Given the description of an element on the screen output the (x, y) to click on. 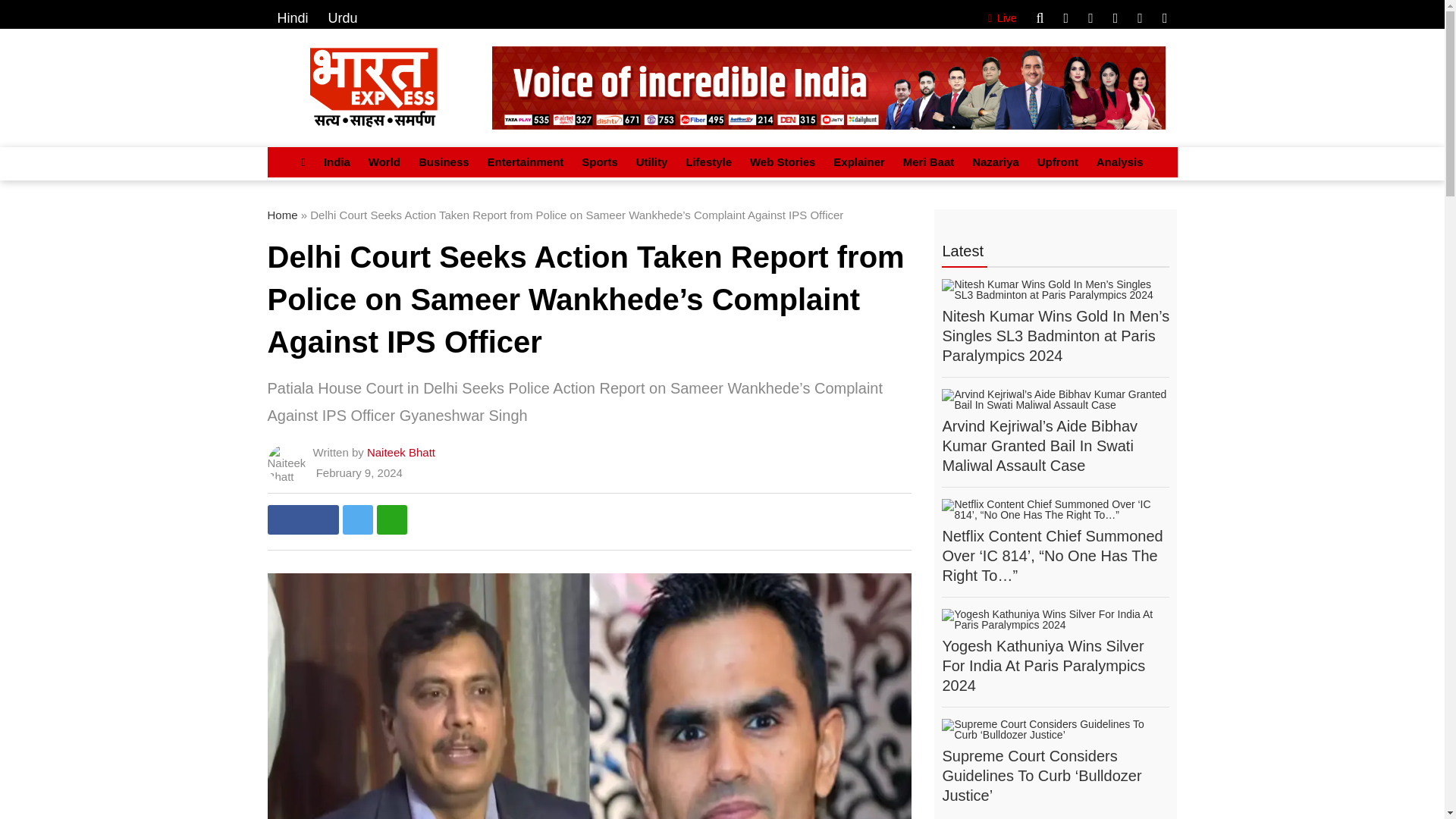
Explainer (858, 162)
Urdu (342, 17)
Sports (599, 162)
Lifestyle (708, 162)
Entertainment (524, 162)
Bharat Express (828, 87)
Meri Baat (928, 162)
Utility (651, 162)
Hindi (292, 17)
Nazariya (994, 162)
